Given the description of an element on the screen output the (x, y) to click on. 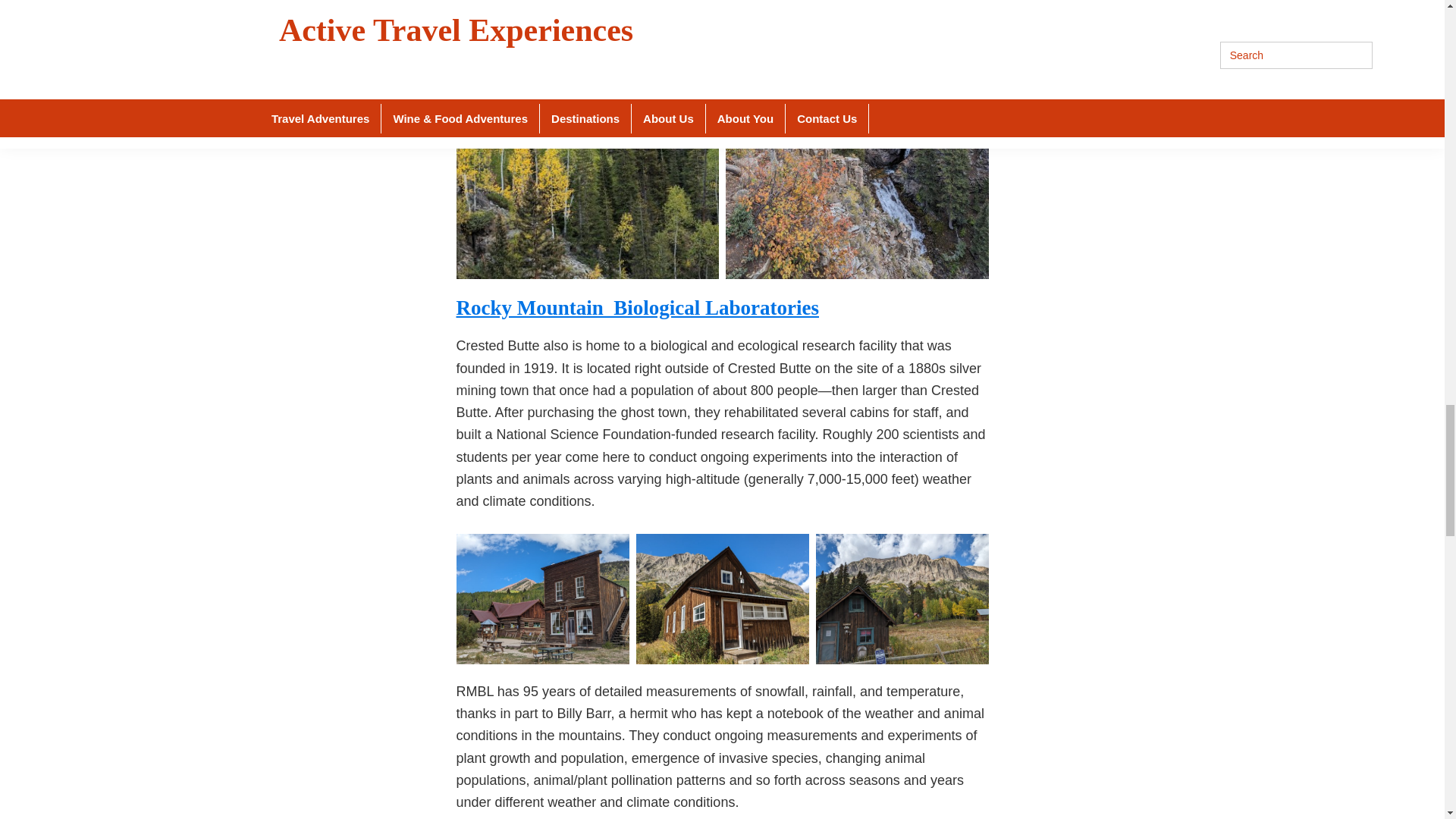
Rocky Mountain  Biological Laboratories (638, 307)
